Given the description of an element on the screen output the (x, y) to click on. 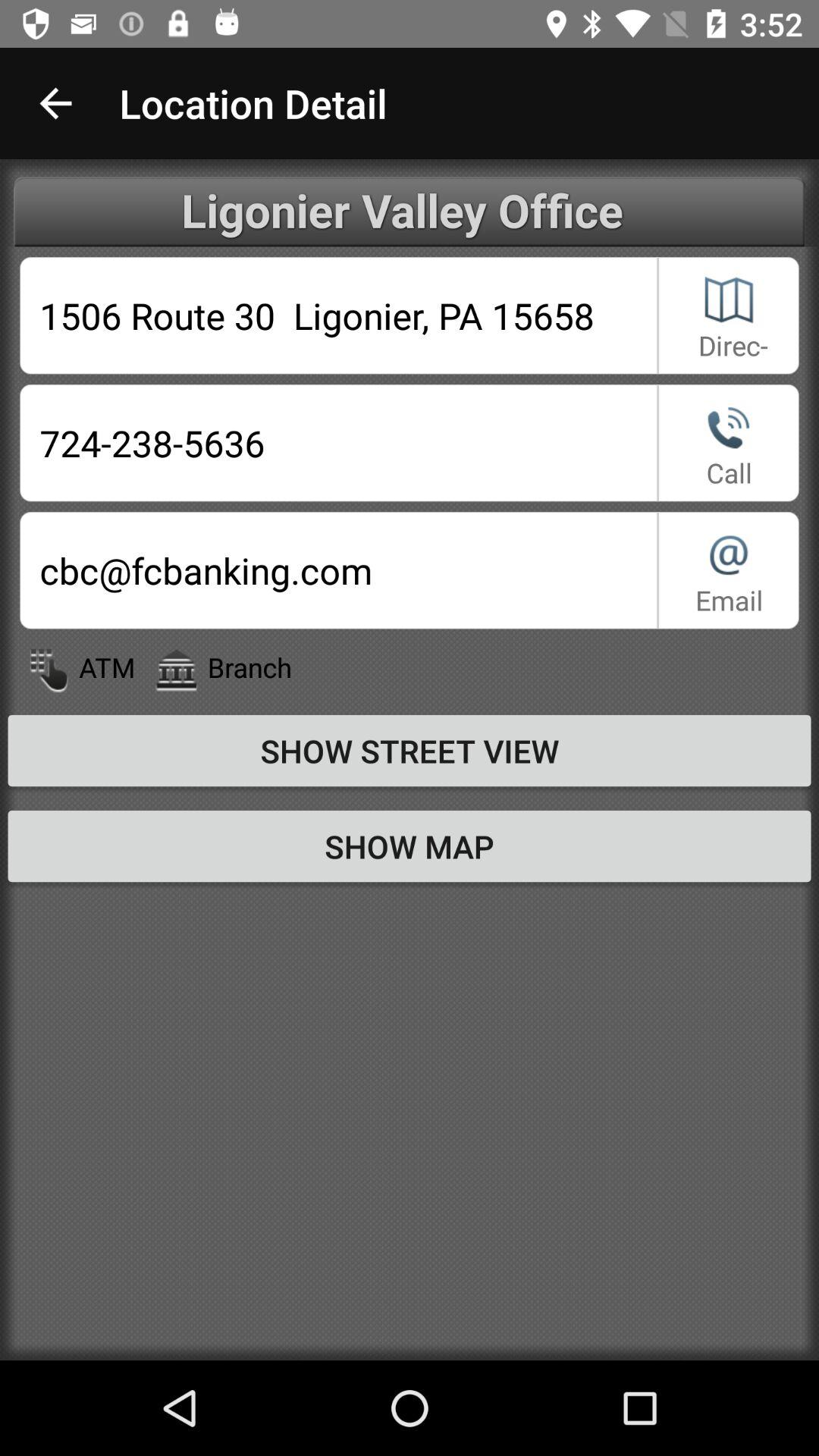
turn on the item above show map (409, 750)
